Given the description of an element on the screen output the (x, y) to click on. 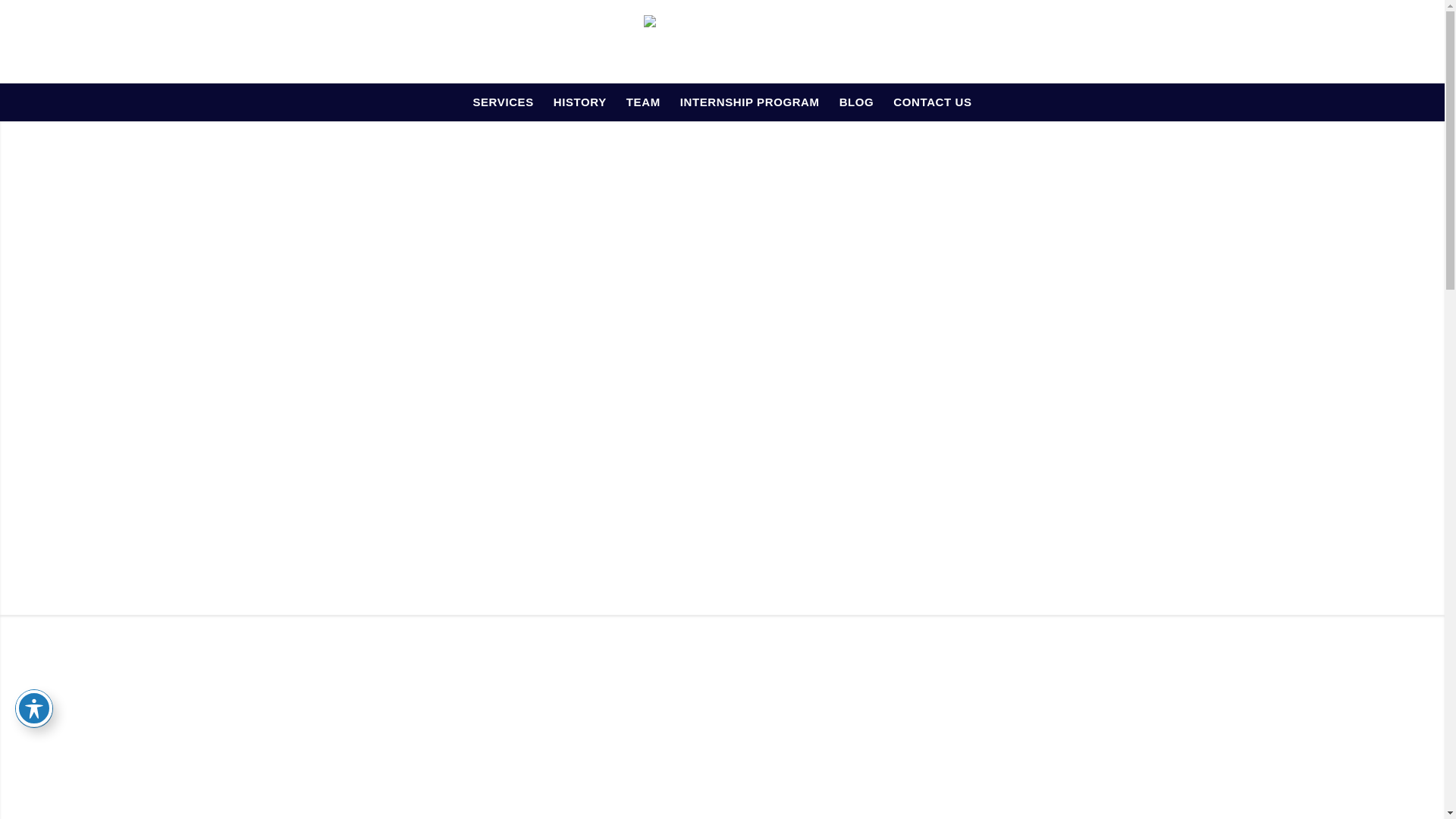
BLOG (856, 102)
TEAM (642, 102)
CONTACT US (932, 102)
SERVICES (503, 102)
HISTORY (579, 102)
INTERNSHIP PROGRAM (749, 102)
